Given the description of an element on the screen output the (x, y) to click on. 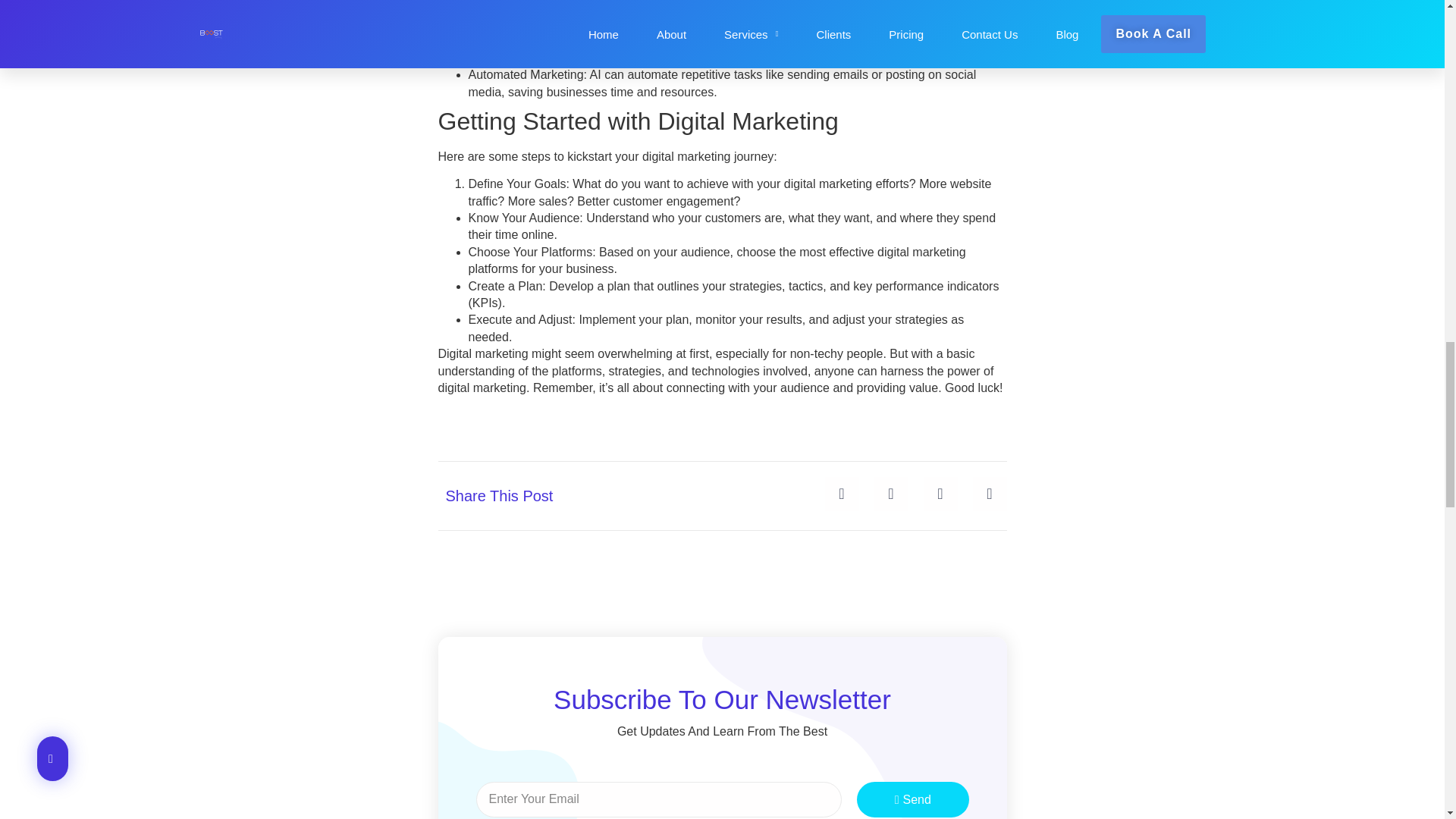
Send (913, 799)
